Given the description of an element on the screen output the (x, y) to click on. 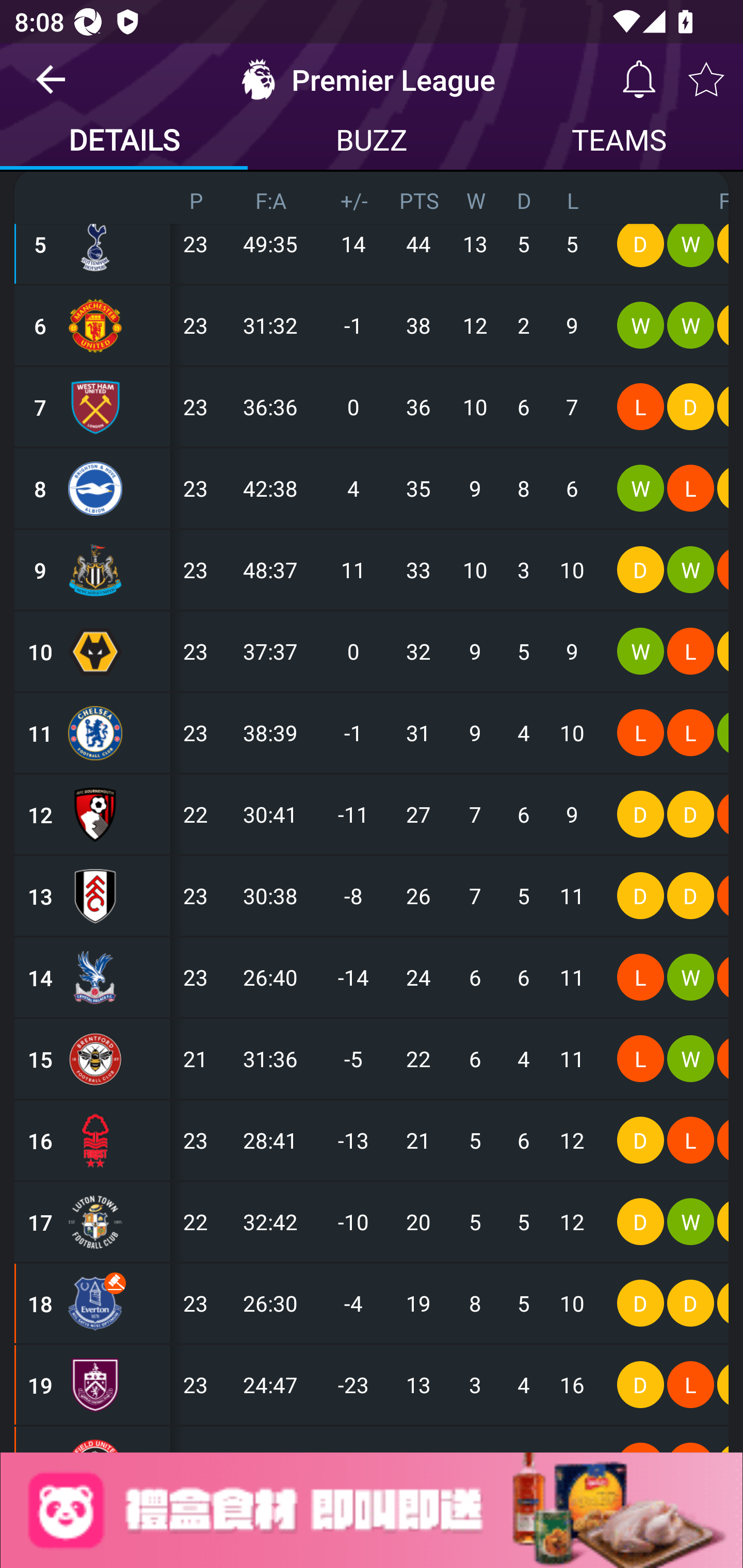
Navigate up (50, 86)
DETAILS (123, 142)
BUZZ (371, 142)
TEAMS (619, 142)
5 23 49:35 14 44 13 5 5 D W D (371, 243)
6 23 31:32 -1 38 12 2 9 W W D (371, 325)
7 23 36:36 0 36 10 6 7 L D D (371, 406)
8 23 42:38 4 35 9 8 6 W L D (371, 488)
9 23 48:37 11 33 10 3 10 D W L (371, 569)
10 23 37:37 0 32 9 5 9 W L D (371, 651)
11 23 38:39 -1 31 9 4 10 L L W (371, 733)
12 22 30:41 -11 27 7 6 9 D D L (371, 814)
13 23 30:38 -8 26 7 5 11 D D L (371, 896)
14 23 26:40 -14 24 6 6 11 L W L (371, 977)
15 21 31:36 -5 22 6 4 11 L W L (371, 1059)
16 23 28:41 -13 21 5 6 12 D L L (371, 1140)
17 22 32:42 -10 20 5 5 12 D W D (371, 1222)
18 23 26:30 -4 19 8 5 10 D D D (371, 1303)
19 23 24:47 -23 13 3 4 16 D L D (371, 1385)
Advertisement (371, 1509)
